Given the description of an element on the screen output the (x, y) to click on. 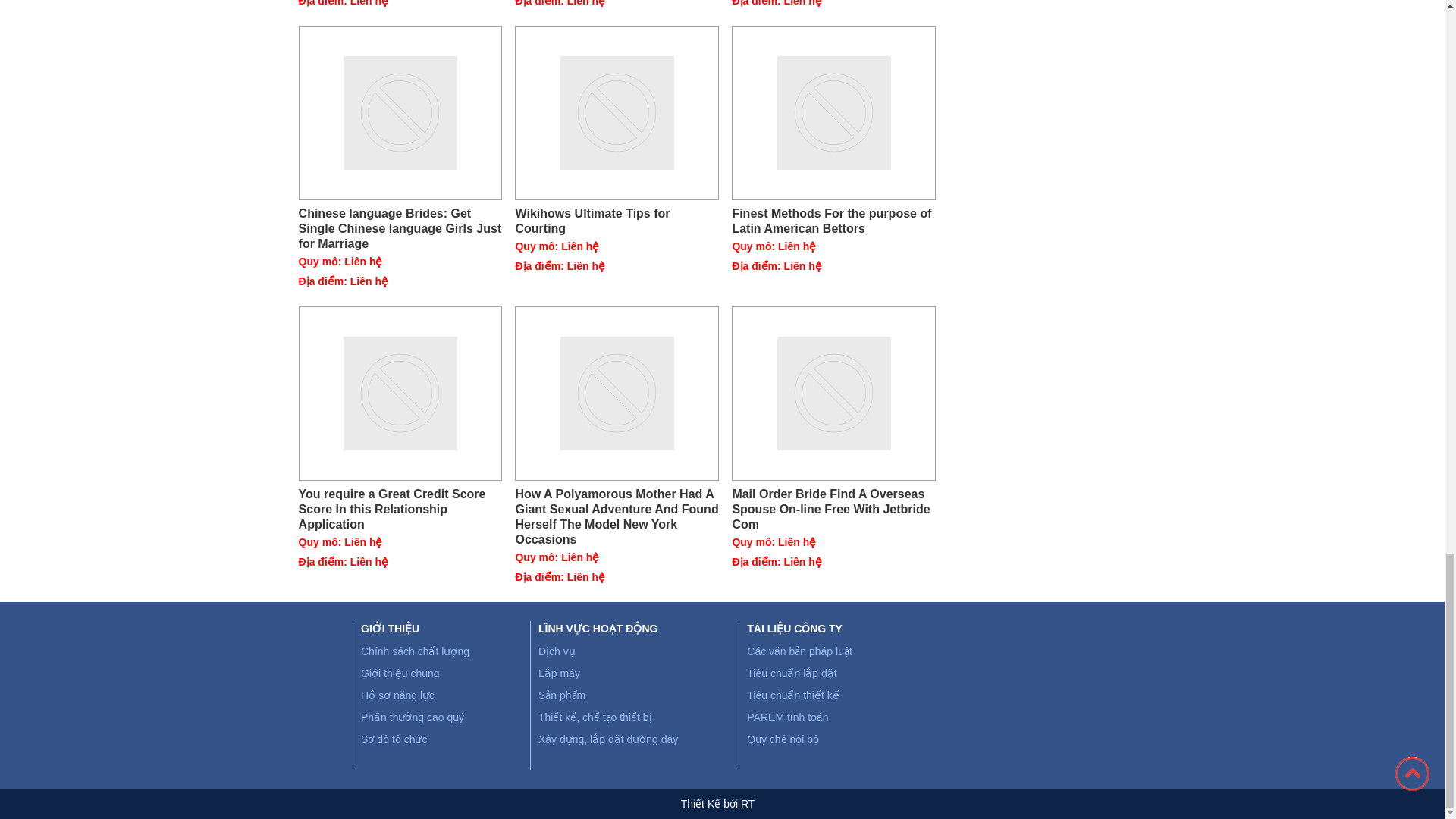
Finest Methods For the purpose of Latin American Bettors (834, 221)
Wikihows Ultimate Tips for Courting (617, 221)
Finest Methods For the purpose of Latin American Bettors (834, 112)
Finest Methods For the purpose of Latin American Bettors (834, 221)
Wikihows Ultimate Tips for Courting (617, 221)
Wikihows Ultimate Tips for Courting (617, 112)
